Given the description of an element on the screen output the (x, y) to click on. 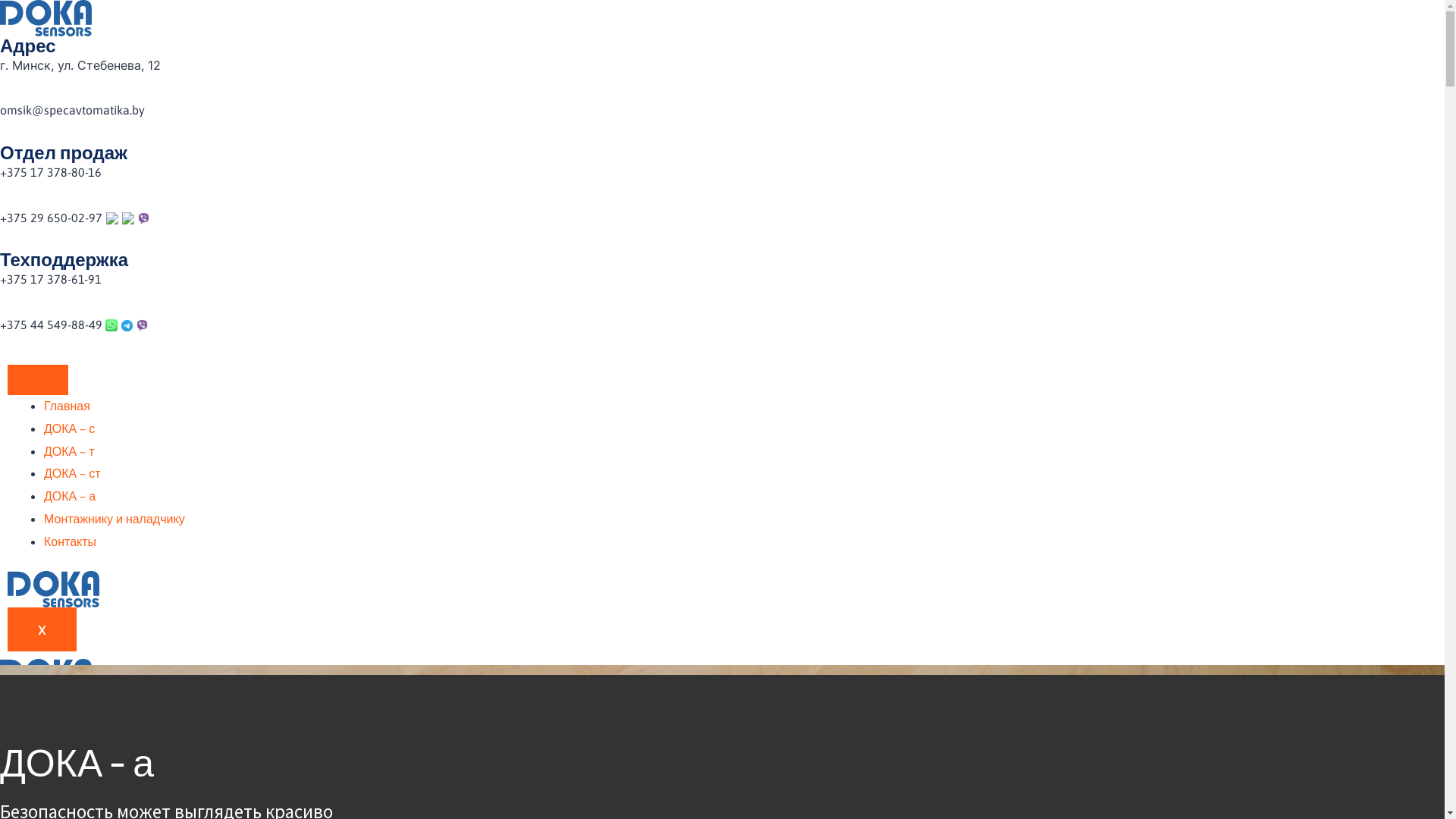
+375 44 549-88-49 Element type: text (52, 324)
+375 17 378-61-91 Element type: text (50, 278)
+375 17 378-80-16 Element type: text (50, 171)
X Element type: text (41, 629)
+375 29 650-02-97 Element type: text (51, 217)
omsik@specavtomatika.by Element type: text (72, 109)
